Given the description of an element on the screen output the (x, y) to click on. 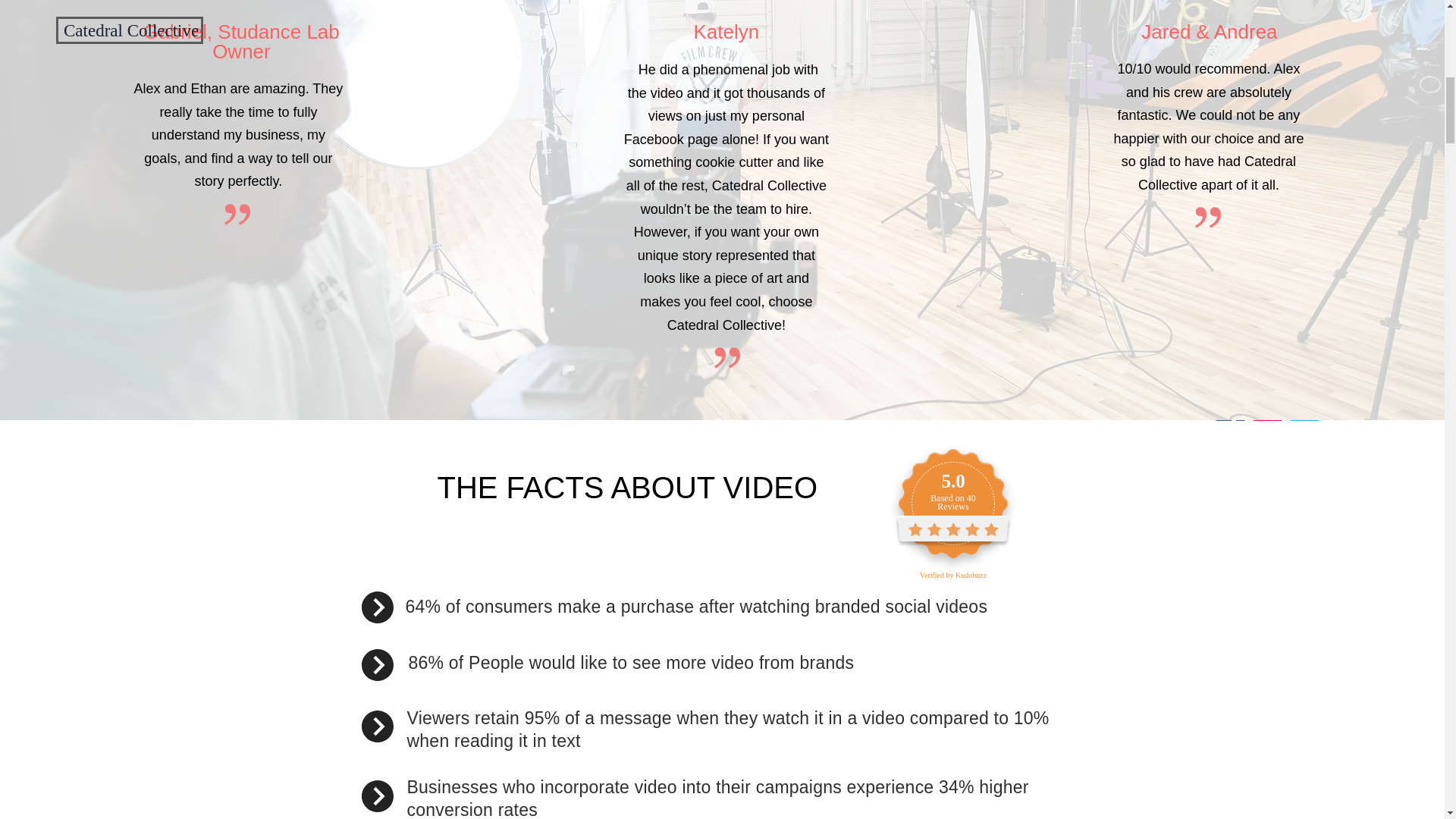
Embedded Content (967, 508)
